Given the description of an element on the screen output the (x, y) to click on. 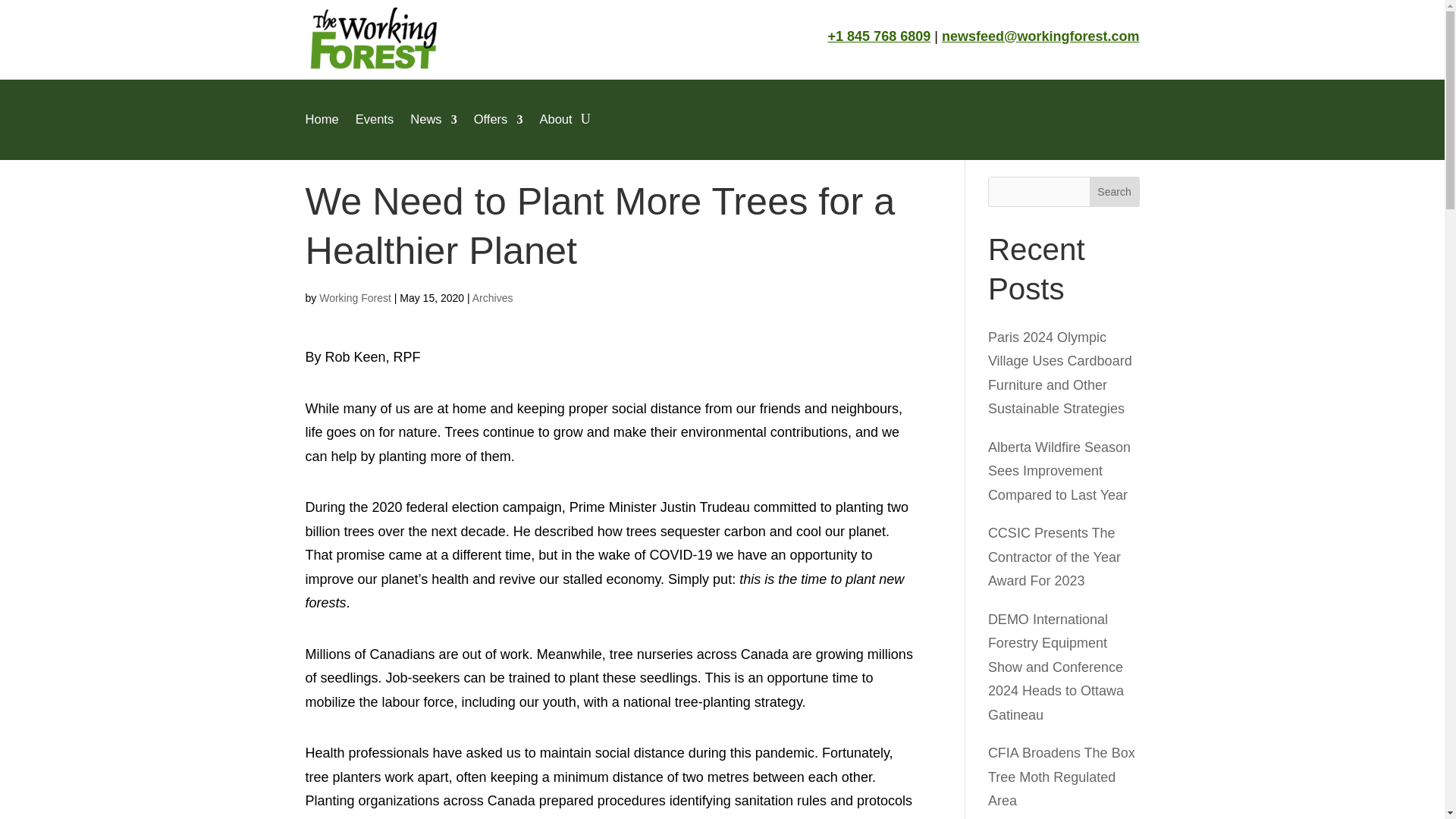
Posts by Working Forest (354, 297)
